Given the description of an element on the screen output the (x, y) to click on. 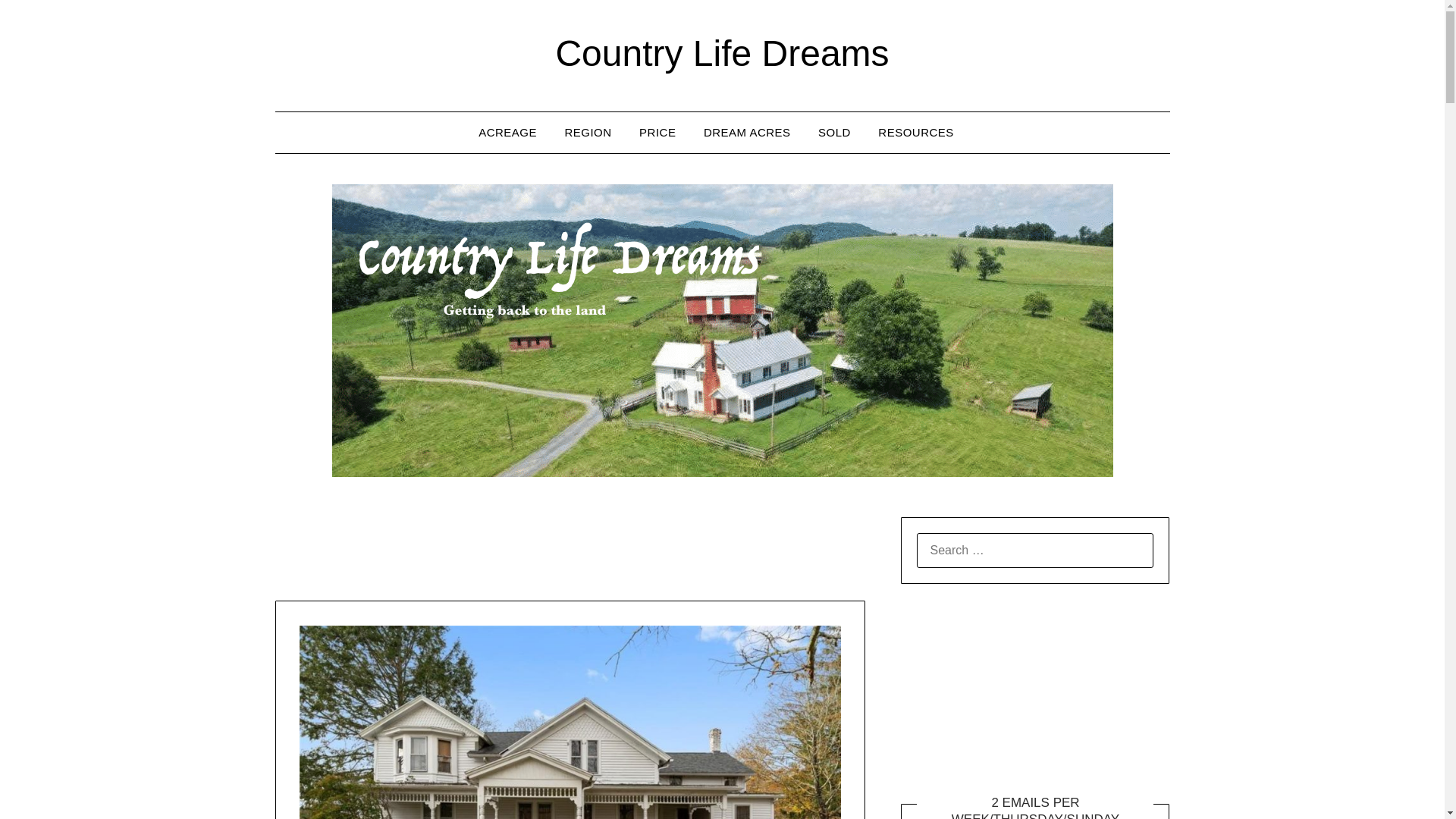
ACREAGE (513, 132)
RESOURCES (916, 132)
DREAM ACRES (747, 132)
SOLD (834, 132)
PRICE (657, 132)
REGION (587, 132)
Country Life Dreams (721, 53)
